Given the description of an element on the screen output the (x, y) to click on. 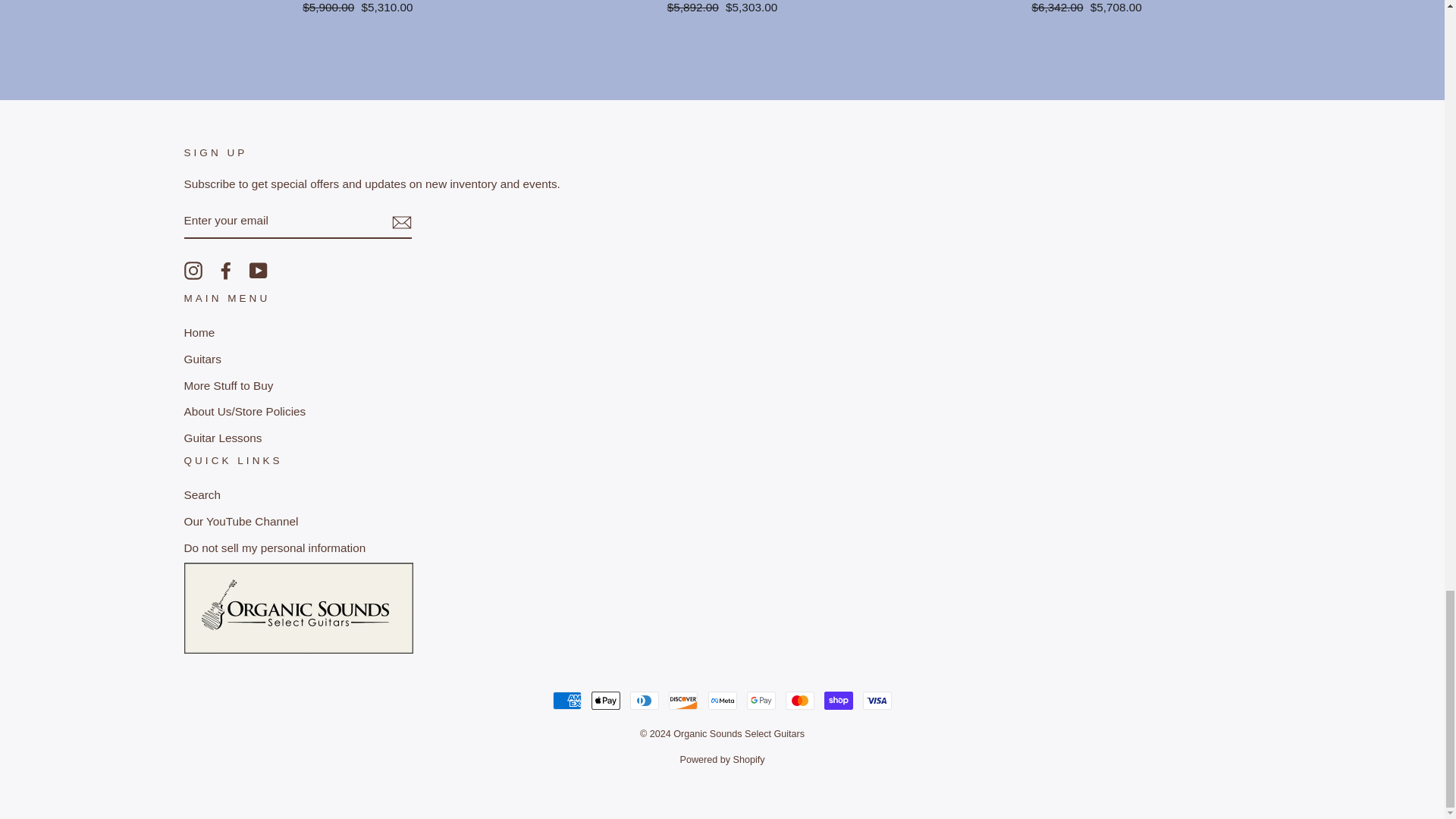
Apple Pay (605, 700)
Mastercard (799, 700)
Diners Club (644, 700)
American Express (566, 700)
Google Pay (761, 700)
Organic Sounds Select Guitars on Instagram (192, 270)
Discover (682, 700)
Meta Pay (721, 700)
Organic Sounds Select Guitars on YouTube (257, 270)
Shop Pay (838, 700)
